Given the description of an element on the screen output the (x, y) to click on. 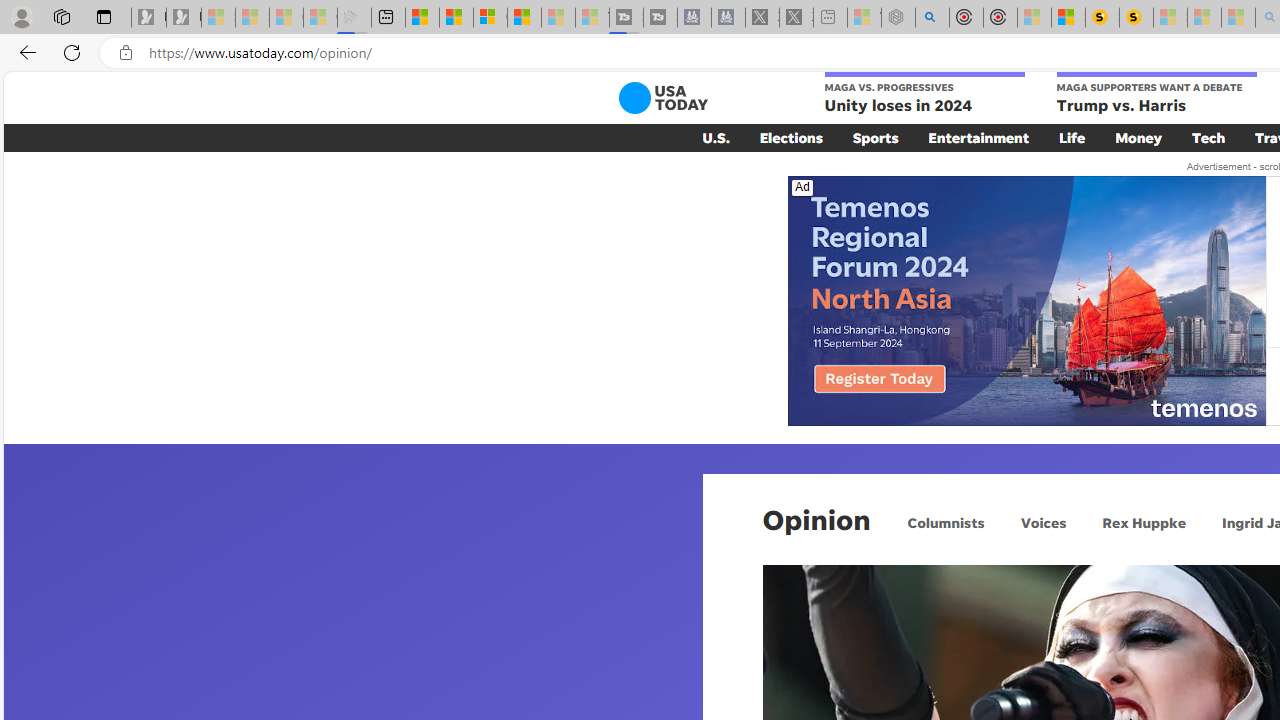
Class: ns-dqusr-e-4 (1026, 300)
Refresh (72, 52)
Overview (489, 17)
MAGA VS. PROGRESSIVES Unity loses in 2024 (924, 94)
Money (1138, 137)
Sports (875, 137)
New tab (388, 17)
Workspaces (61, 16)
Columnists (945, 521)
U.S. (715, 137)
Personal Profile (21, 16)
